Given the description of an element on the screen output the (x, y) to click on. 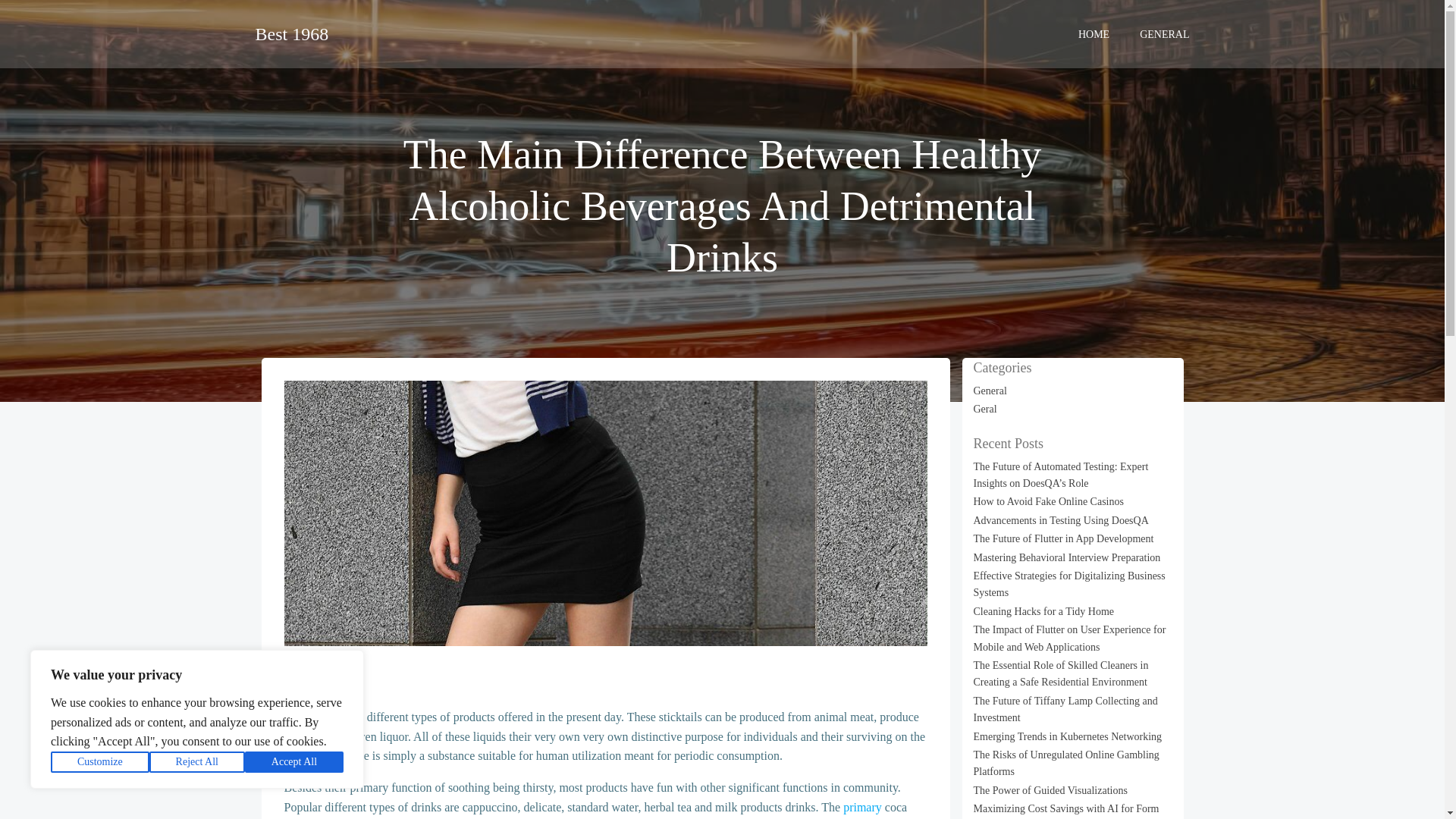
Accept All (293, 762)
General (990, 390)
How to Avoid Fake Online Casinos (1049, 501)
HOME (1093, 33)
Geral (985, 408)
The Future of Flutter in App Development (1064, 538)
Customize (99, 762)
GENERAL (1164, 33)
Advancements in Testing Using DoesQA (1061, 520)
Best 1968 (291, 33)
General (300, 667)
primary (862, 807)
Admin (298, 687)
Mastering Behavioral Interview Preparation (1067, 557)
Reject All (196, 762)
